Given the description of an element on the screen output the (x, y) to click on. 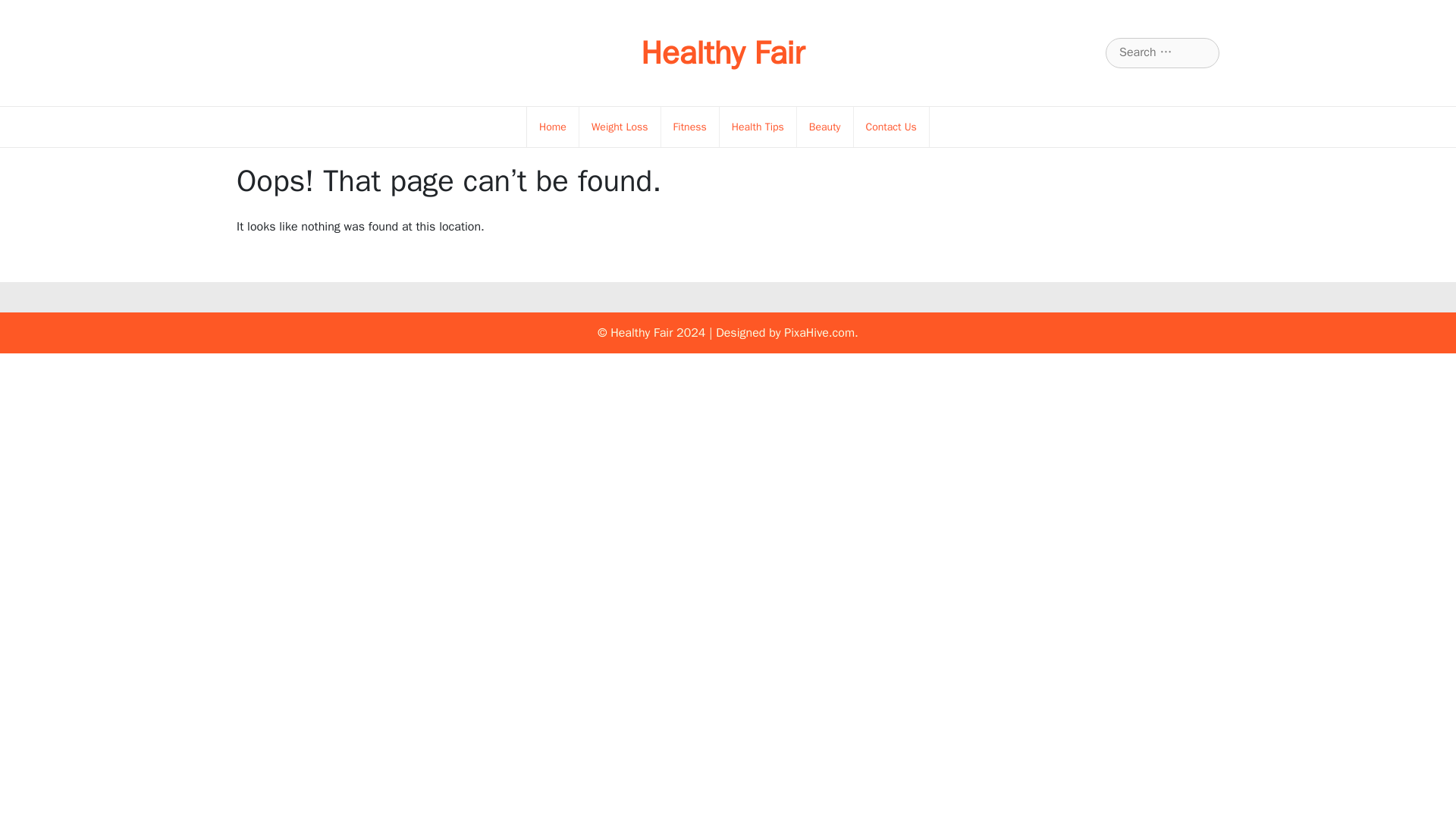
Weight Loss (619, 127)
Contact Us (891, 127)
PixaHive.com (819, 332)
Search (30, 12)
Search (31, 12)
Healthy Fair (722, 52)
Health Tips (758, 127)
